Given the description of an element on the screen output the (x, y) to click on. 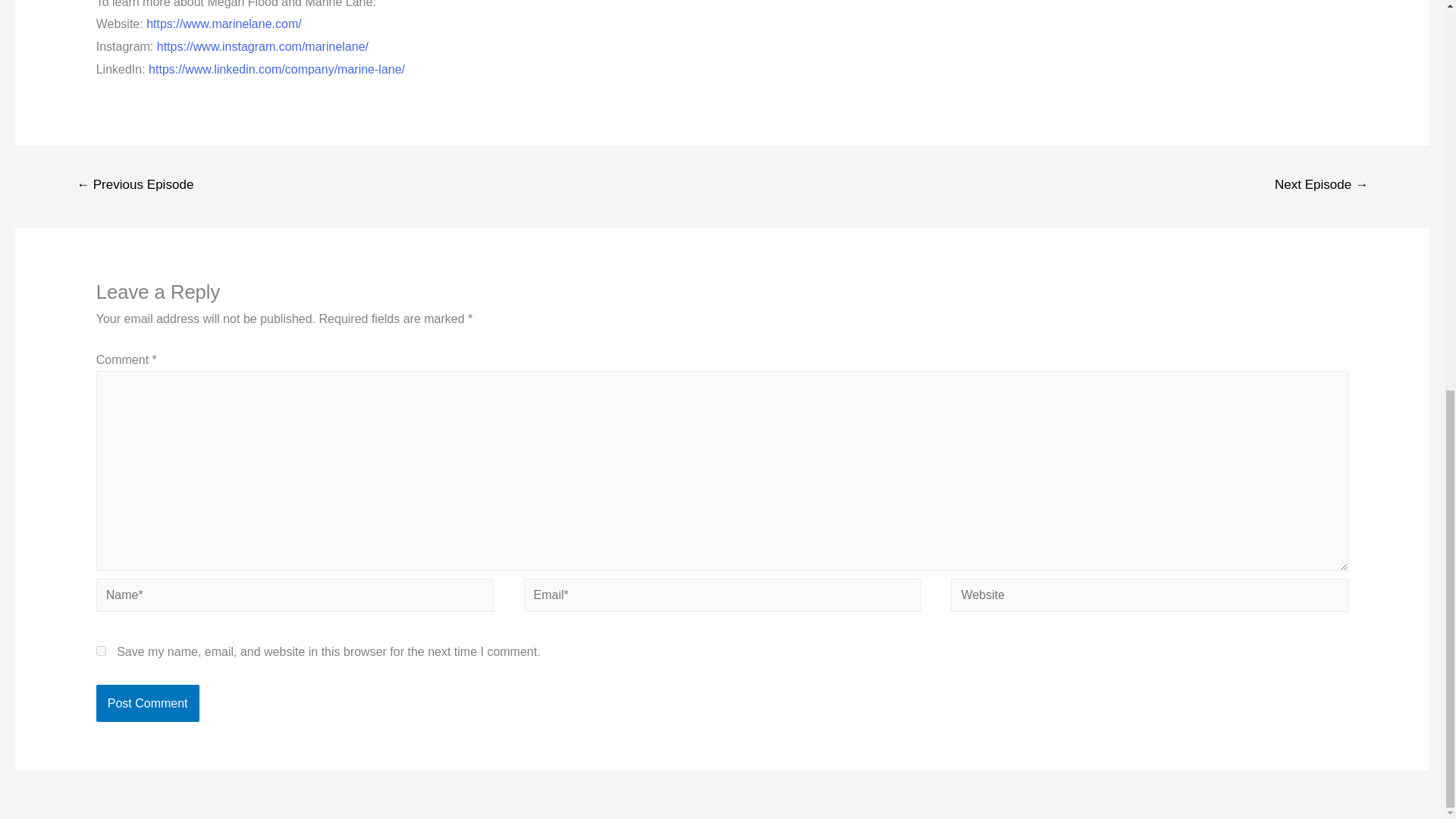
Post Comment (147, 703)
yes (101, 651)
Post Comment (147, 703)
